Given the description of an element on the screen output the (x, y) to click on. 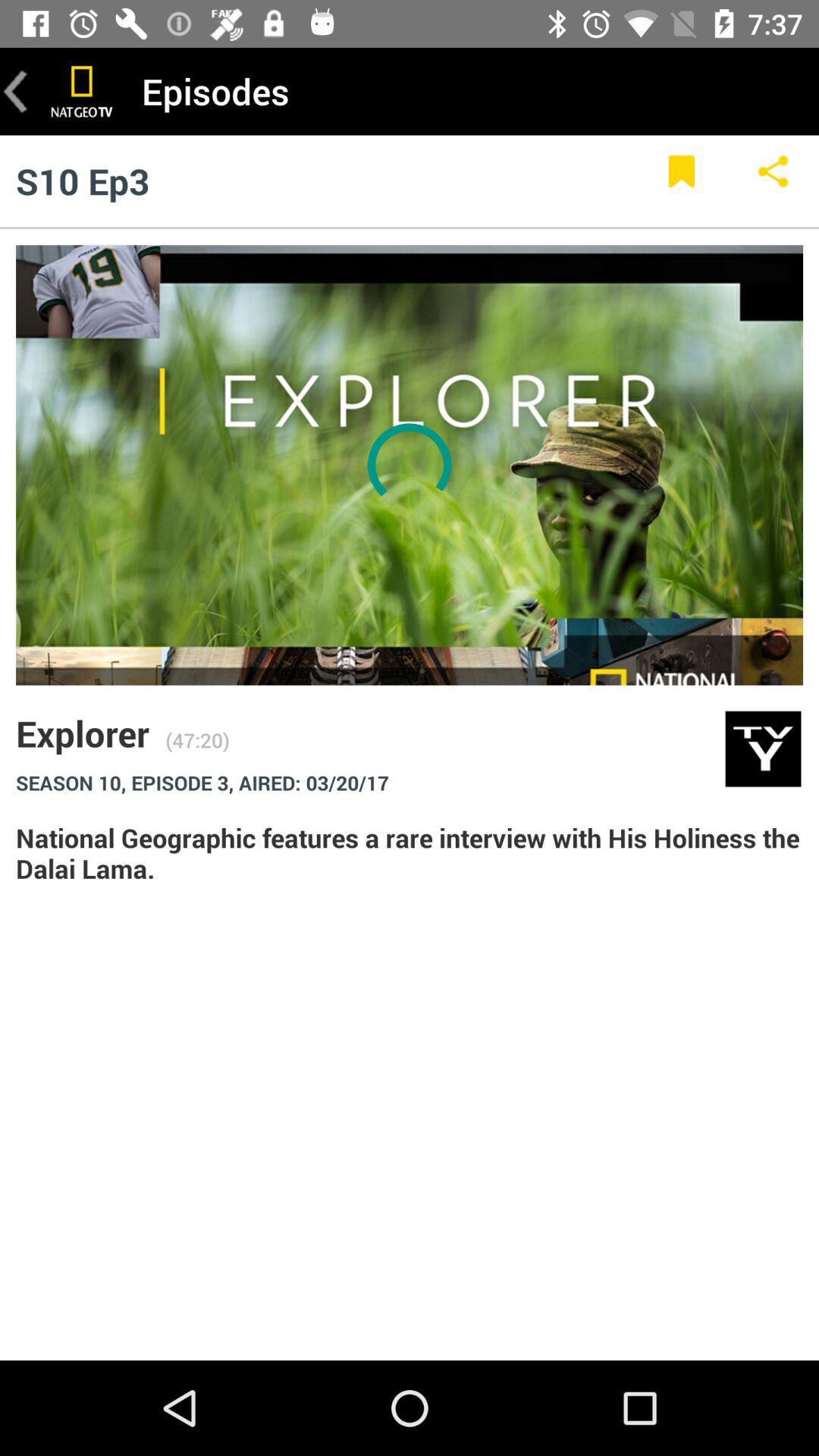
website link (81, 91)
